Given the description of an element on the screen output the (x, y) to click on. 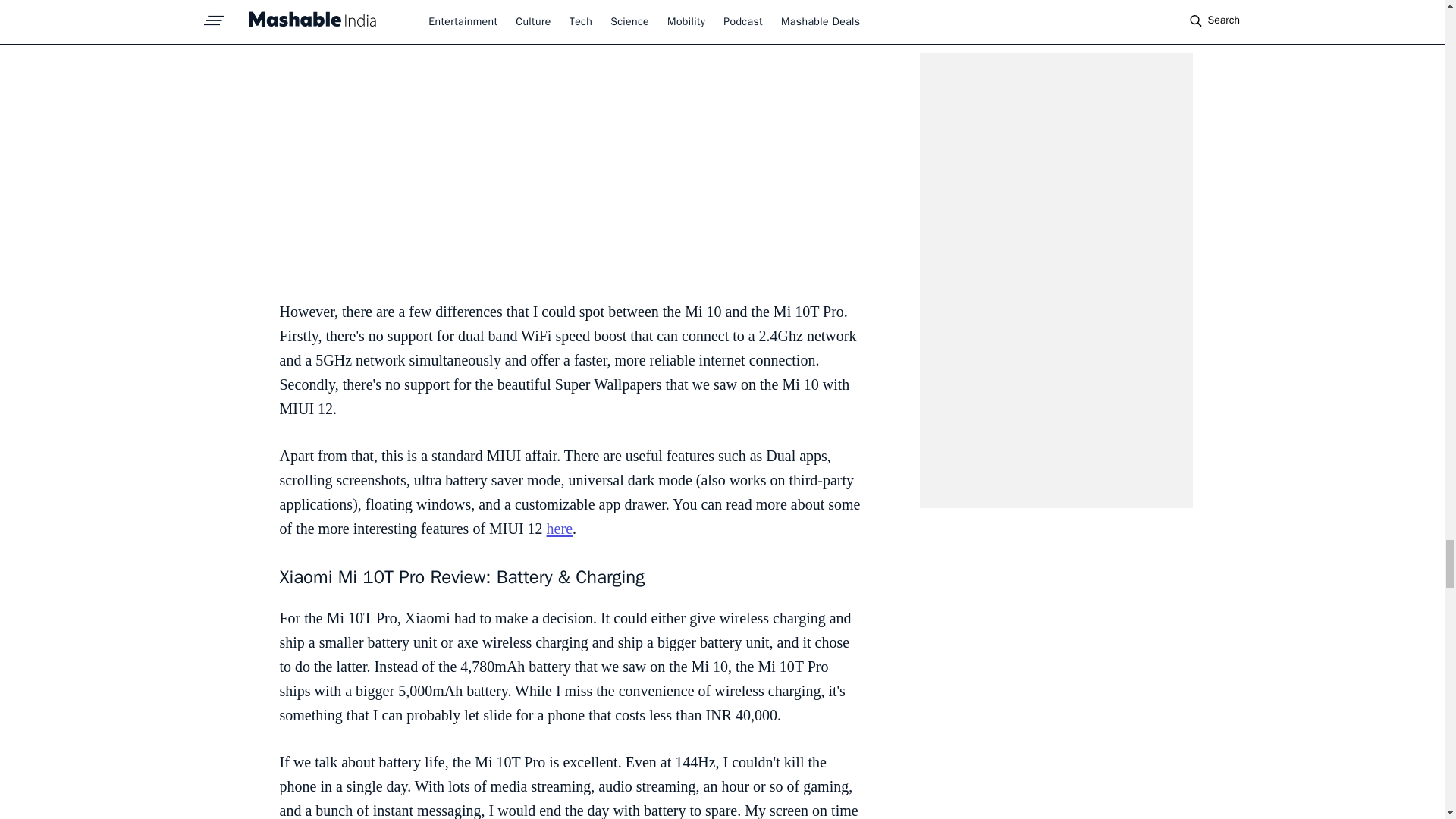
here (559, 528)
